Given the description of an element on the screen output the (x, y) to click on. 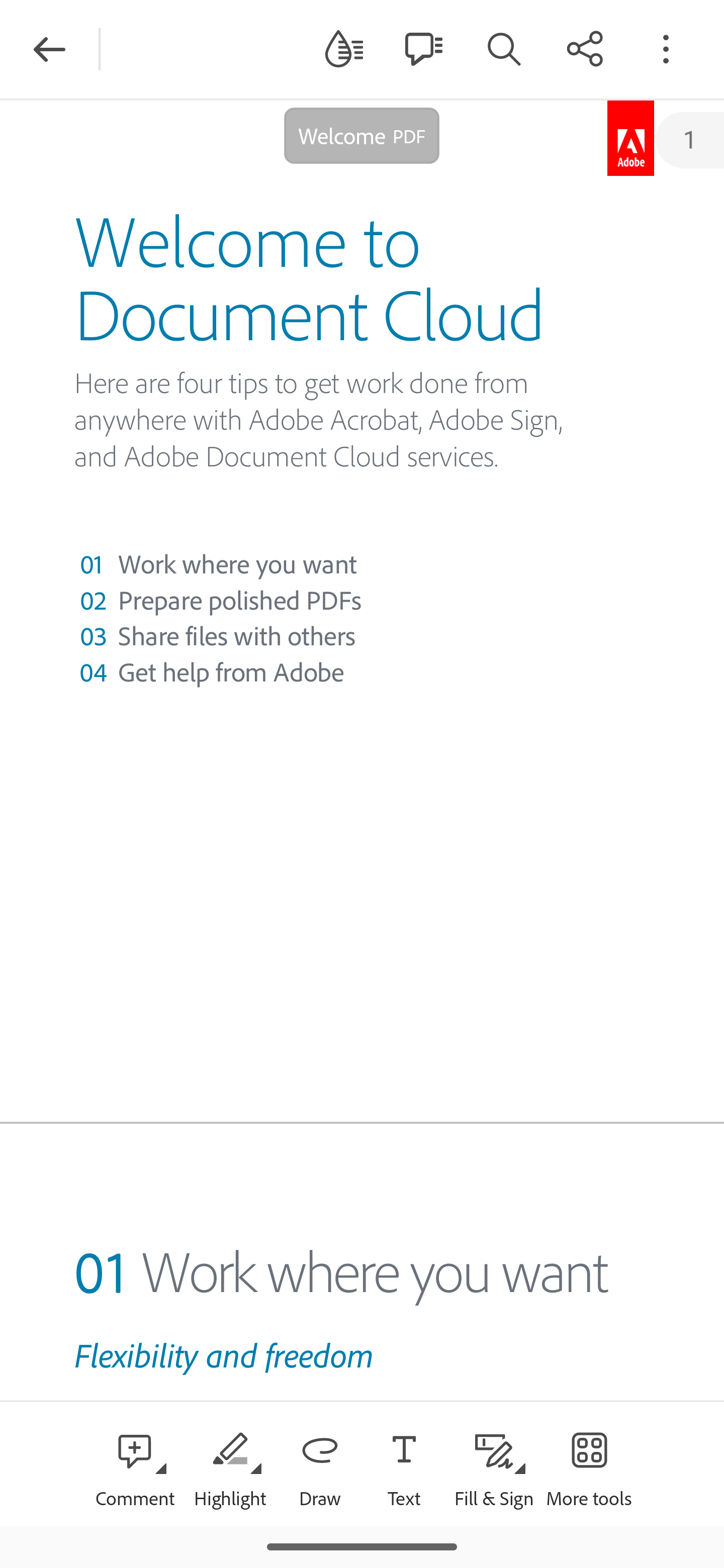
Back (49, 49)
Turn on Liquid Mode (343, 48)
Find keyword in document (503, 48)
Share this document with others (584, 48)
More options (665, 48)
Comments (423, 48)
Comment (134, 1463)
Highlight (229, 1463)
Draw (319, 1463)
Text (404, 1463)
Fill & Sign (493, 1463)
More tools (588, 1463)
